Given the description of an element on the screen output the (x, y) to click on. 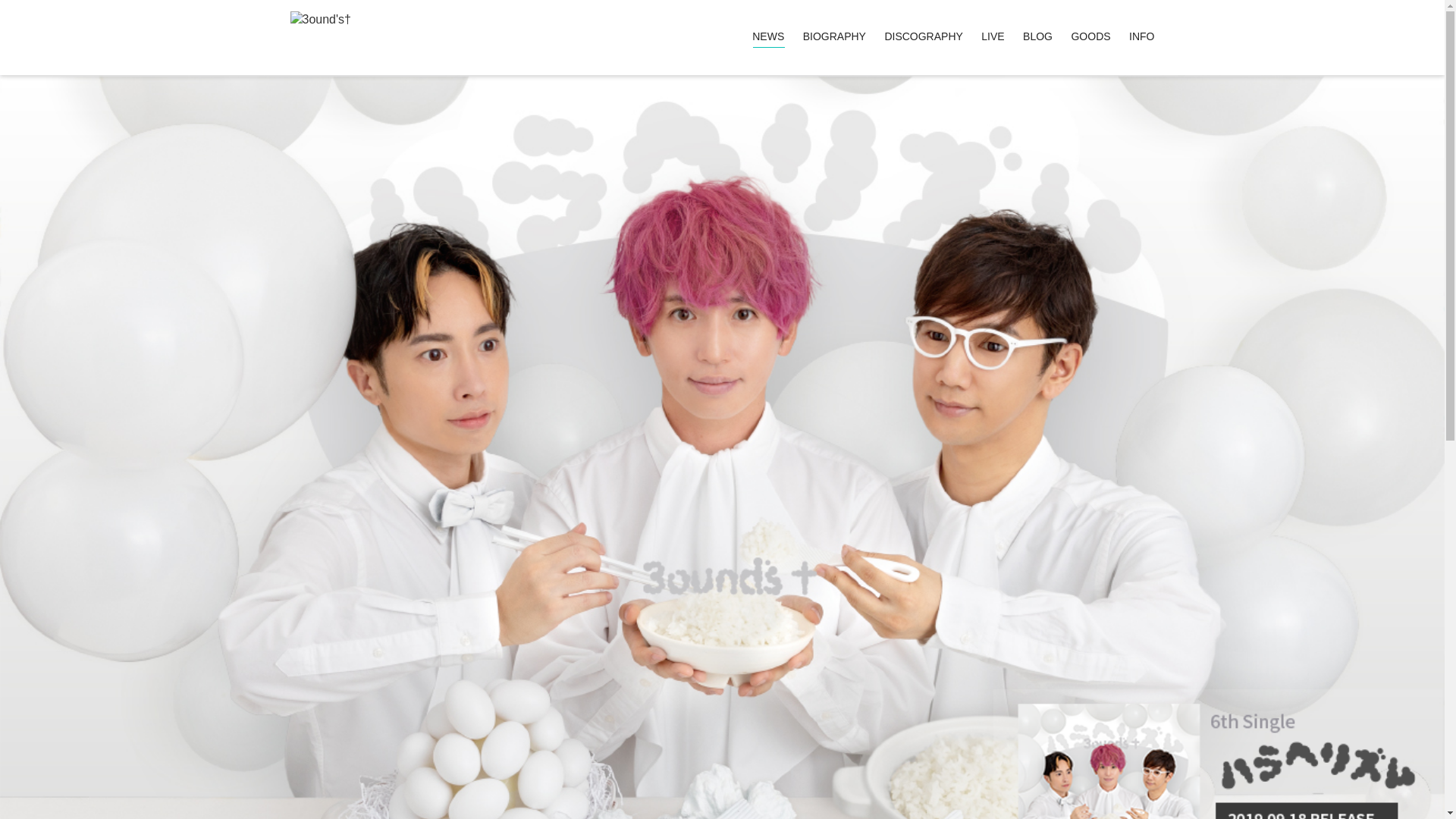
BLOG Element type: text (1037, 36)
NEWS Element type: text (768, 36)
INFO Element type: text (1141, 36)
LIVE Element type: text (992, 36)
BIOGRAPHY Element type: text (834, 36)
GOODS Element type: text (1090, 36)
DISCOGRAPHY Element type: text (923, 36)
